Given the description of an element on the screen output the (x, y) to click on. 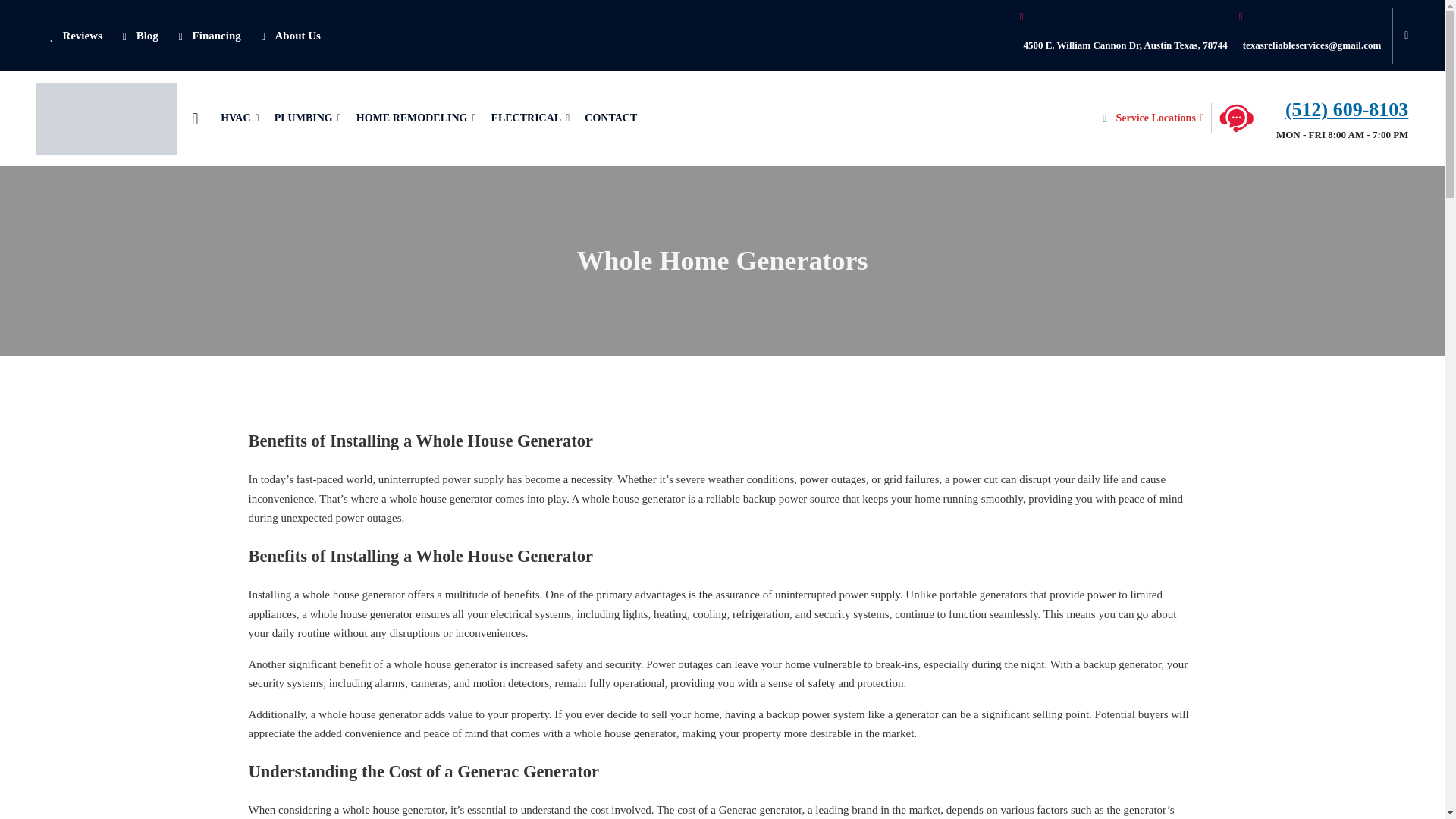
Blog (137, 35)
Reviews (73, 35)
HVAC (239, 118)
About Us (288, 35)
PLUMBING (307, 118)
Financing (206, 35)
HOME REMODELING (416, 118)
